Given the description of an element on the screen output the (x, y) to click on. 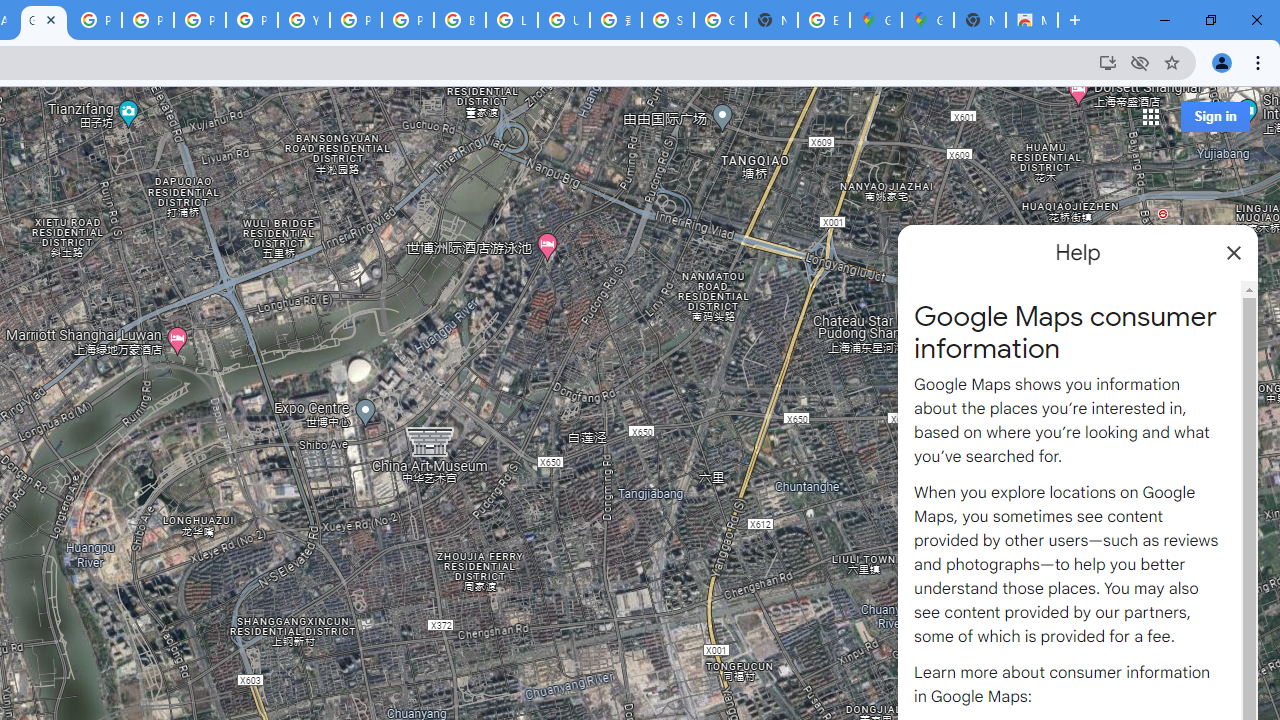
New Tab (979, 20)
Explore new street-level details - Google Maps Help (823, 20)
Google Maps (875, 20)
Sign in - Google Accounts (667, 20)
Privacy Help Center - Policies Help (147, 20)
